Given the description of an element on the screen output the (x, y) to click on. 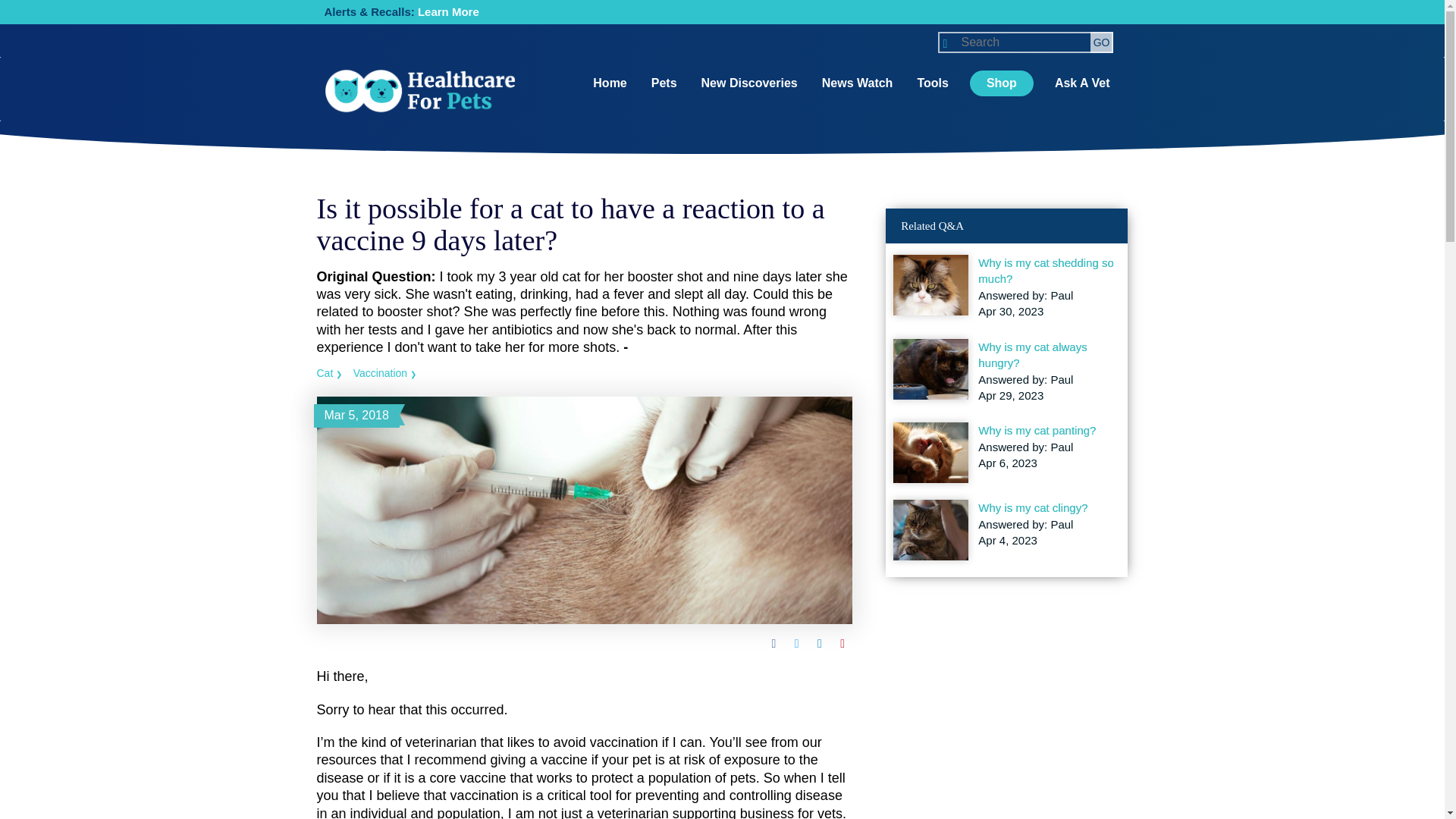
Ask A Vet (1082, 83)
Vaccination (384, 372)
Cat (329, 372)
Healthcare for Pets (420, 90)
Go (1101, 42)
Go (1101, 42)
New Discoveries (749, 83)
News Watch (857, 83)
Go (1101, 42)
Shop (1001, 83)
